Given the description of an element on the screen output the (x, y) to click on. 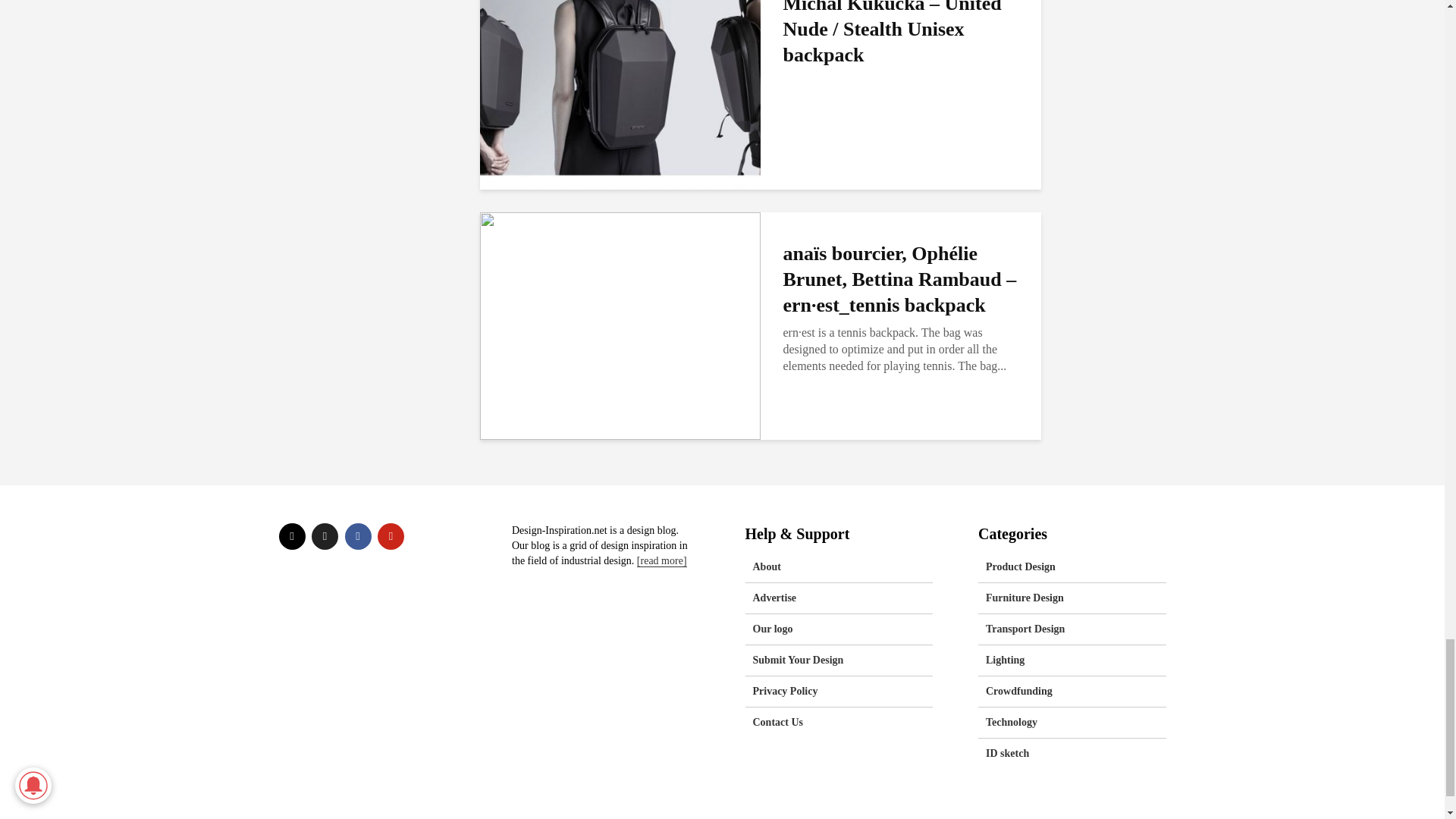
Instagram (292, 536)
Facebook (357, 536)
Pinterest (390, 536)
